Given the description of an element on the screen output the (x, y) to click on. 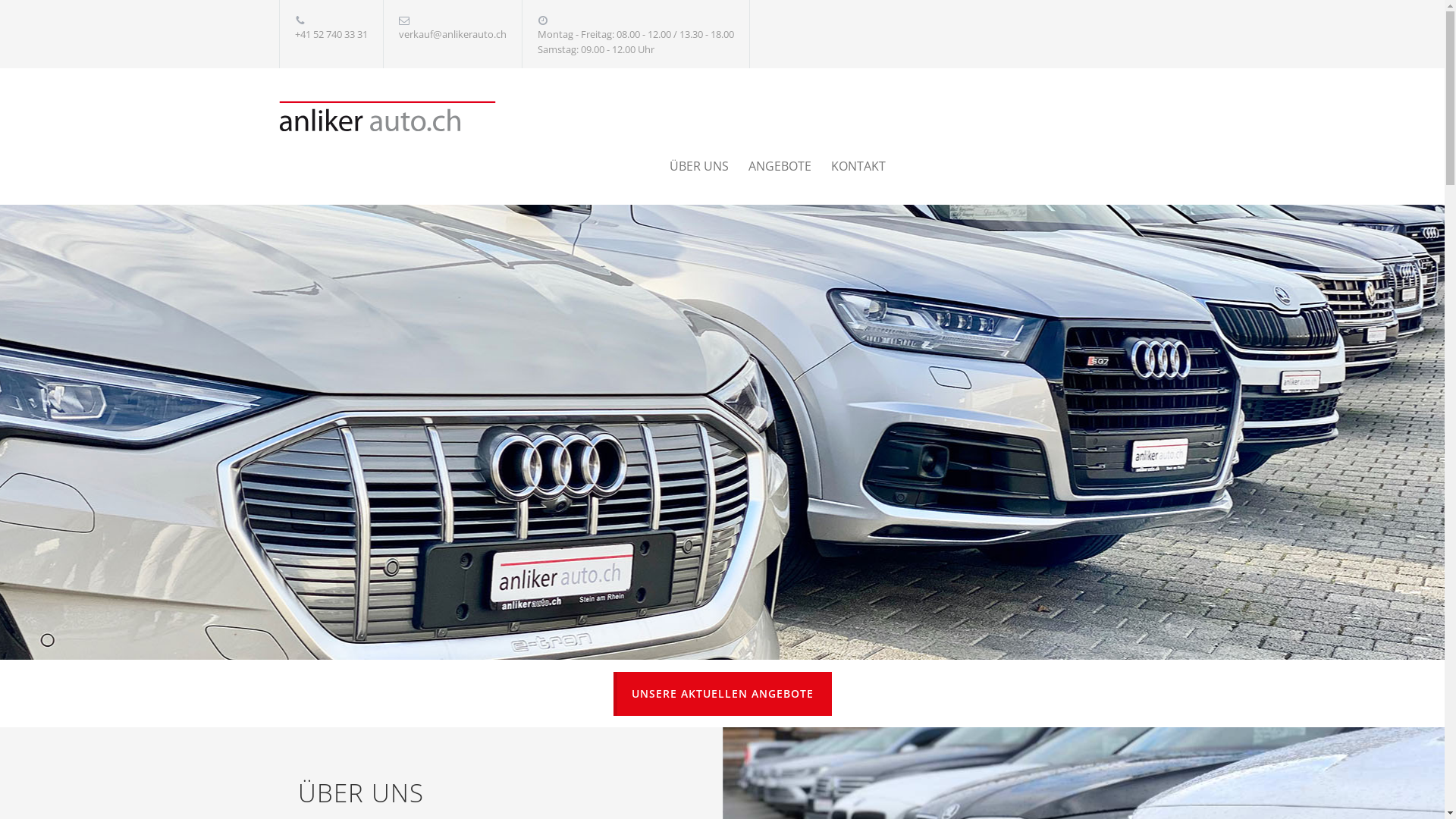
UNSERE AKTUELLEN ANGEBOTE Element type: text (721, 693)
KONTAKT Element type: text (848, 166)
+41 52 740 33 31 Element type: text (330, 33)
ANGEBOTE Element type: text (769, 166)
verkauf@anlikerauto.ch Element type: text (452, 33)
